Given the description of an element on the screen output the (x, y) to click on. 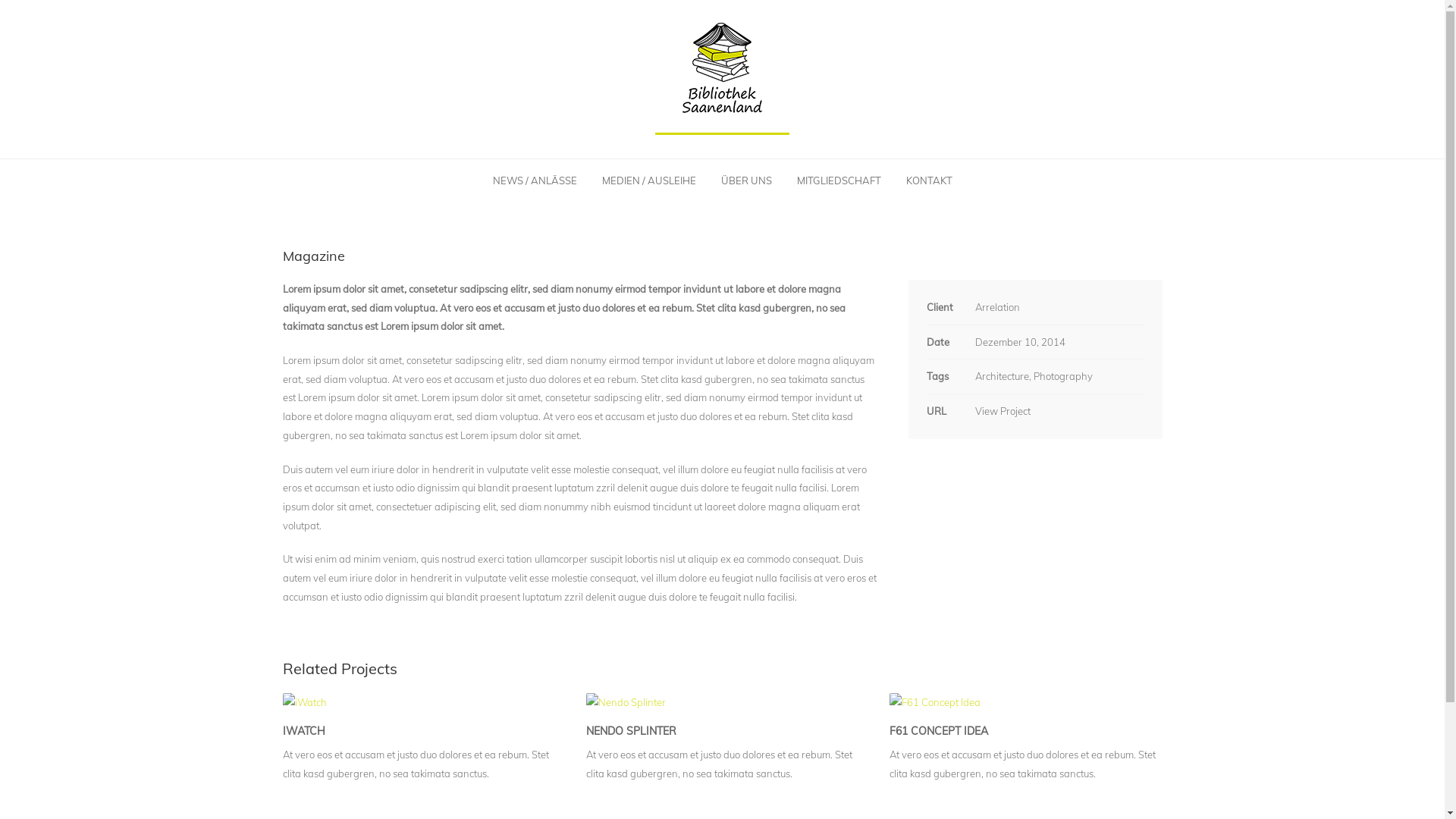
MITGLIEDSCHAFT Element type: text (838, 180)
MEDIEN / AUSLEIHE Element type: text (647, 180)
iWatch Element type: hover (418, 702)
F61 Concept Idea Element type: hover (1024, 702)
Nendo Splinter Element type: hover (721, 702)
F61 CONCEPT IDEA Element type: text (937, 730)
IWATCH Element type: text (303, 730)
KONTAKT Element type: text (928, 180)
View Project Element type: text (1002, 410)
NENDO SPLINTER Element type: text (630, 730)
